Given the description of an element on the screen output the (x, y) to click on. 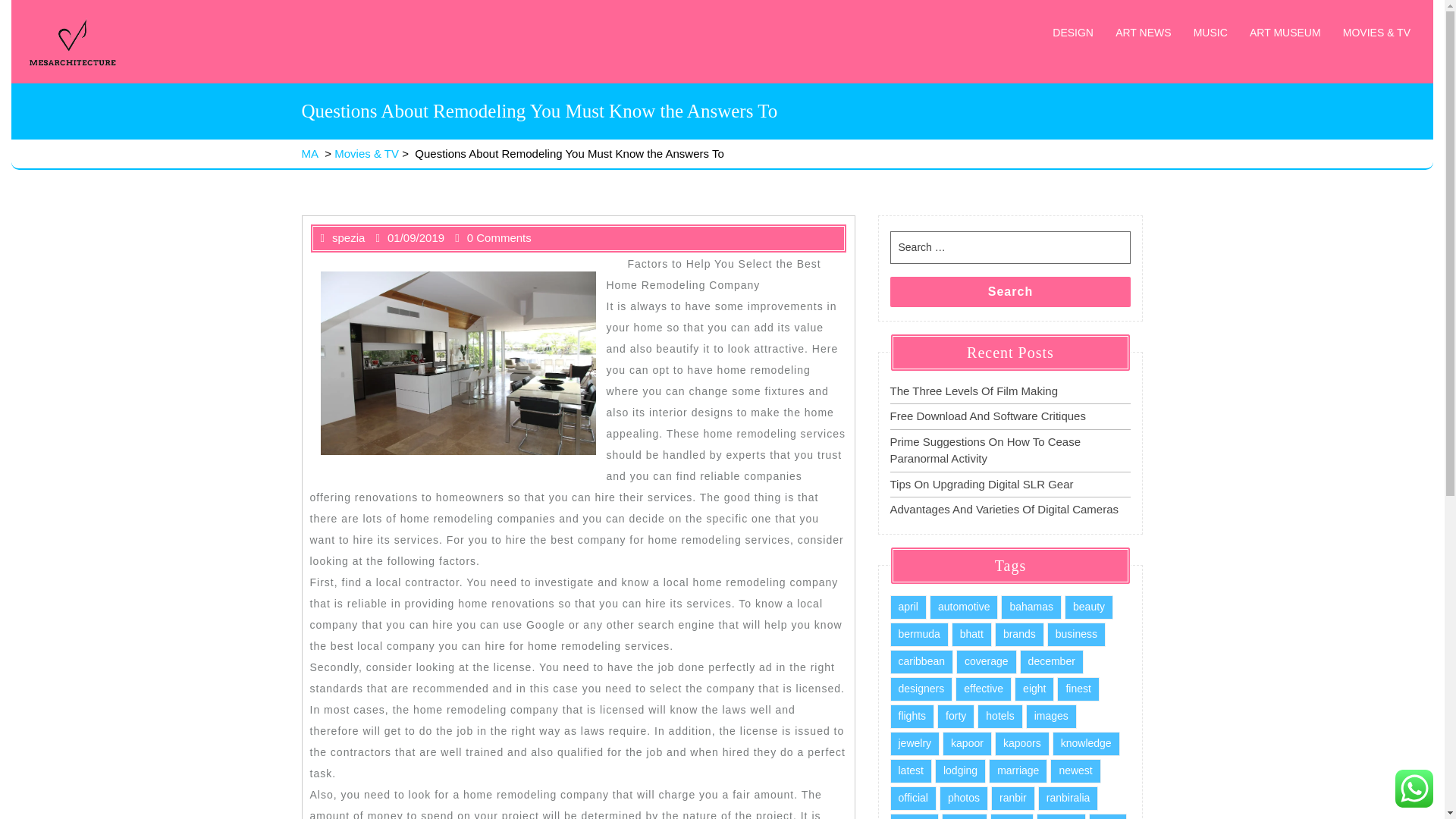
automotive (963, 606)
Prime Suggestions On How To Cease Paranormal Activity (985, 450)
ART MUSEUM (1284, 32)
beauty (1088, 606)
Search (1010, 291)
MUSIC (1210, 32)
flights (911, 715)
business (1075, 633)
designers (921, 688)
bermuda (919, 633)
